Given the description of an element on the screen output the (x, y) to click on. 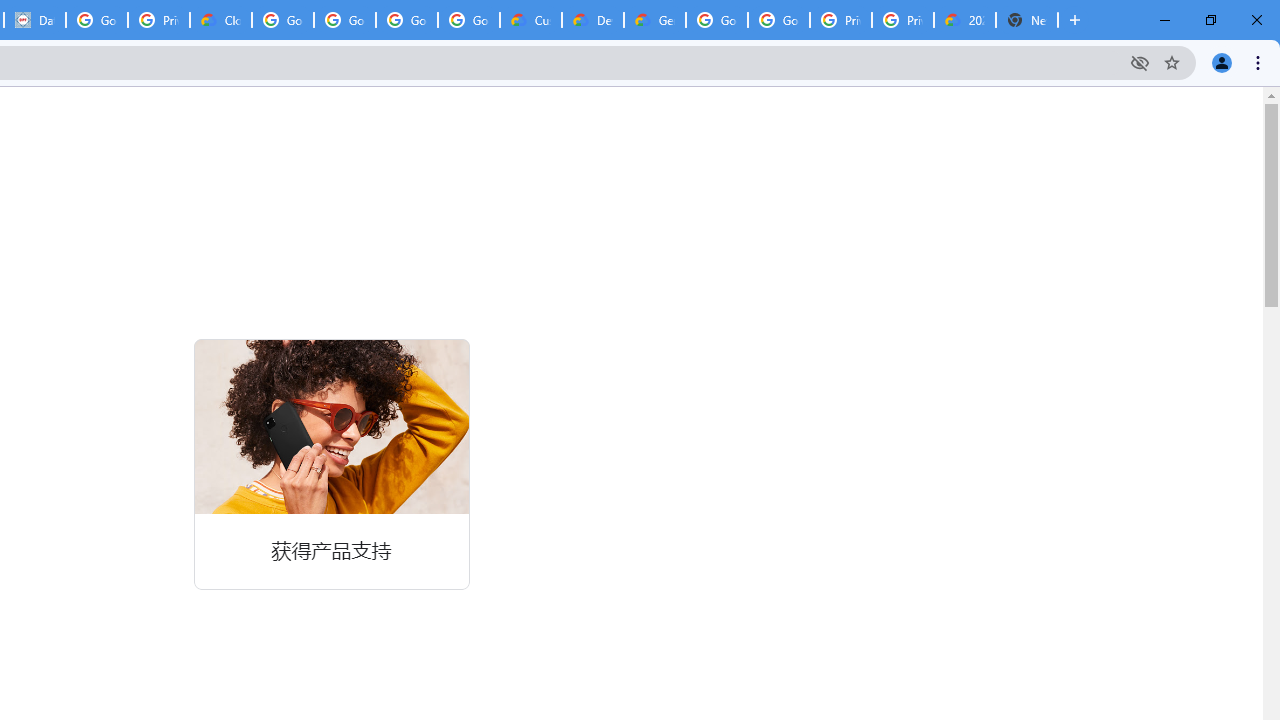
Google Cloud Platform (778, 20)
Third-party cookies blocked (1139, 62)
Google Workspace - Specific Terms (406, 20)
